Given the description of an element on the screen output the (x, y) to click on. 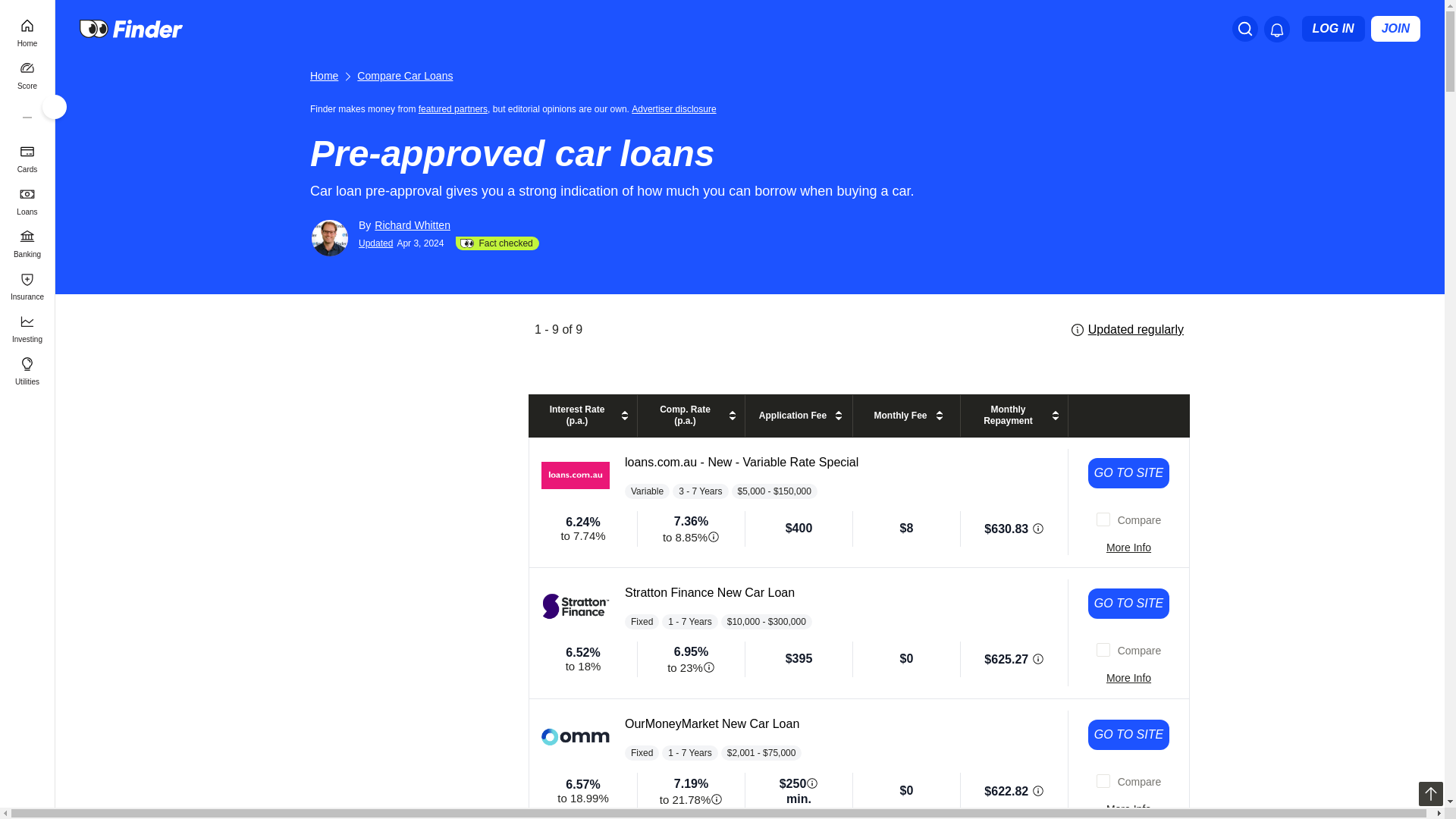
Important information about this website (676, 108)
Apply Now For The OurMoneyMarket New Car Loan (1128, 734)
Read More About The Stratton Finance New Car Loan (1128, 677)
Apply Now For The Stratton Finance New Car Loan (1128, 603)
Apply Now For The loans.com.au - New - Variable Rate Special (1128, 472)
Read More About The OurMoneyMarket New Car Loan (1128, 808)
